Given the description of an element on the screen output the (x, y) to click on. 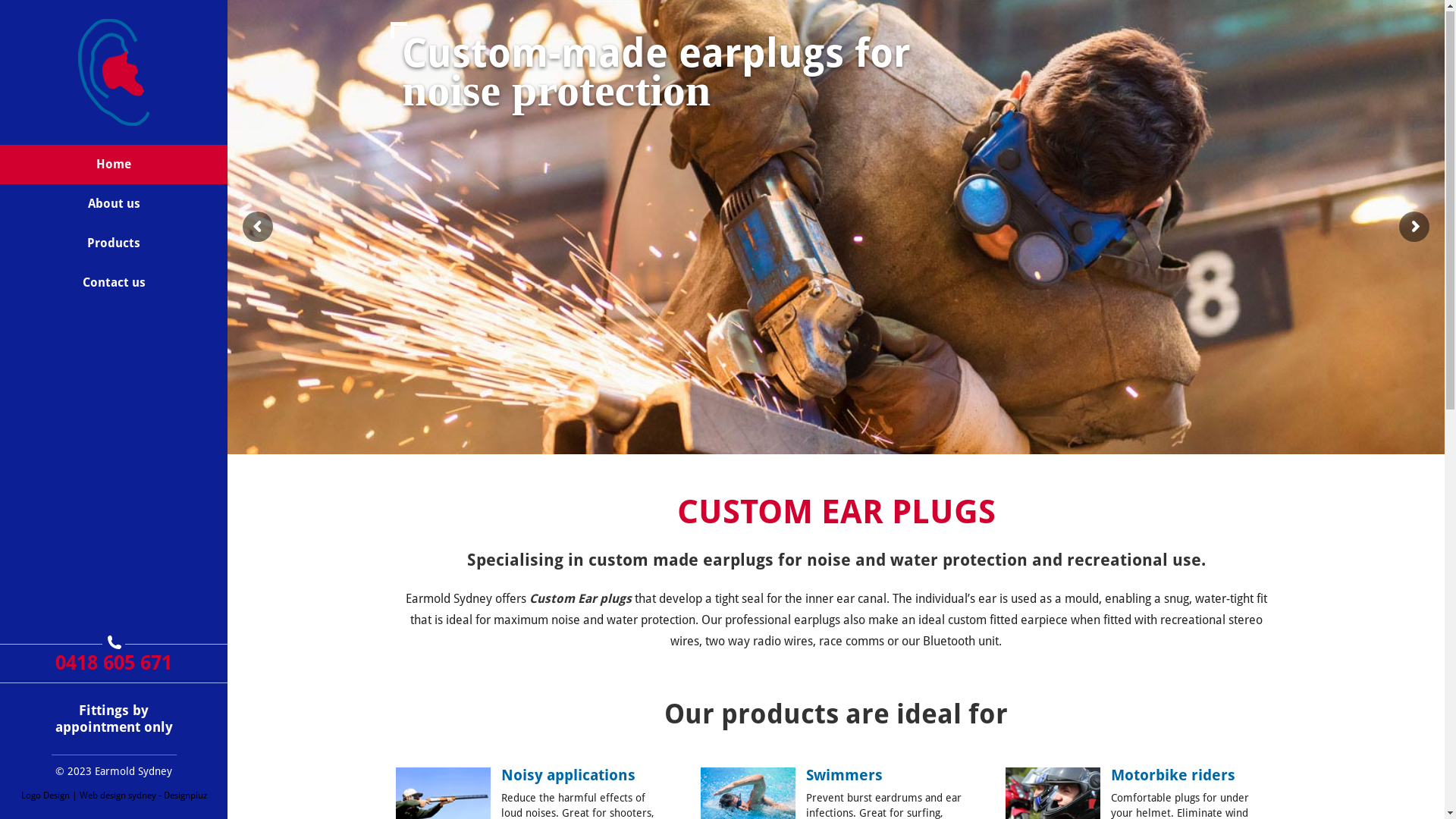
Logo Design Element type: text (45, 795)
Contact us Element type: text (113, 283)
0418 605 671 Element type: text (113, 663)
0418605671 Element type: hover (113, 642)
Products Element type: text (113, 243)
CUSTOM EAR PLUGS Element type: text (835, 512)
Designpluz Element type: text (185, 795)
About us Element type: text (113, 204)
Custom Ear plugs Element type: text (580, 599)
Ear Plugs for Swimming Element type: hover (835, 227)
Web design sydney Element type: text (116, 795)
Swimmers Element type: text (844, 775)
Home Element type: text (113, 164)
